Given the description of an element on the screen output the (x, y) to click on. 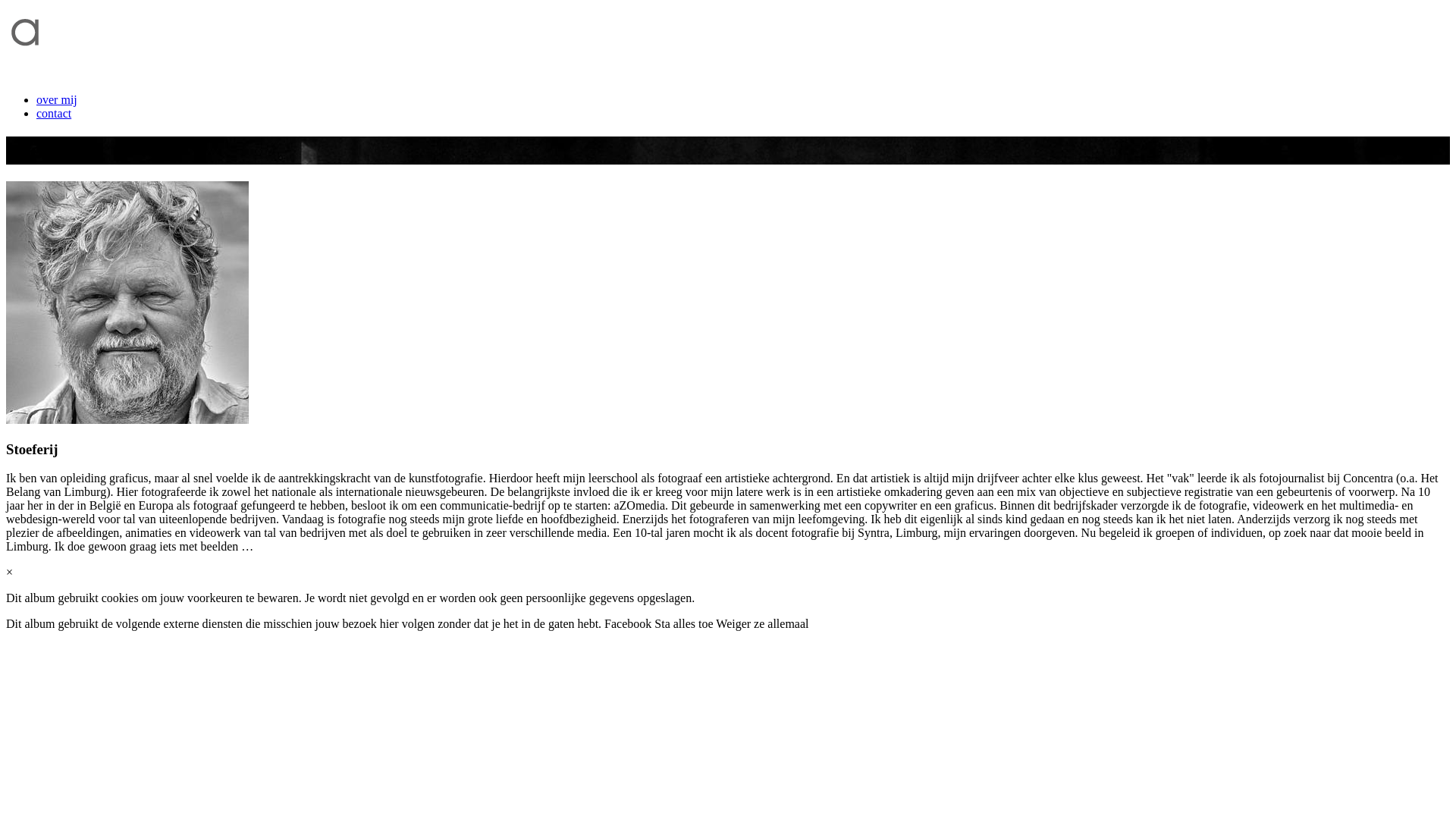
contact Element type: text (53, 112)
Sta alles toe Element type: text (681, 623)
over mij Element type: text (56, 99)
Weiger ze allemaal Element type: text (761, 623)
Beginpagina Element type: hover (48, 73)
